Given the description of an element on the screen output the (x, y) to click on. 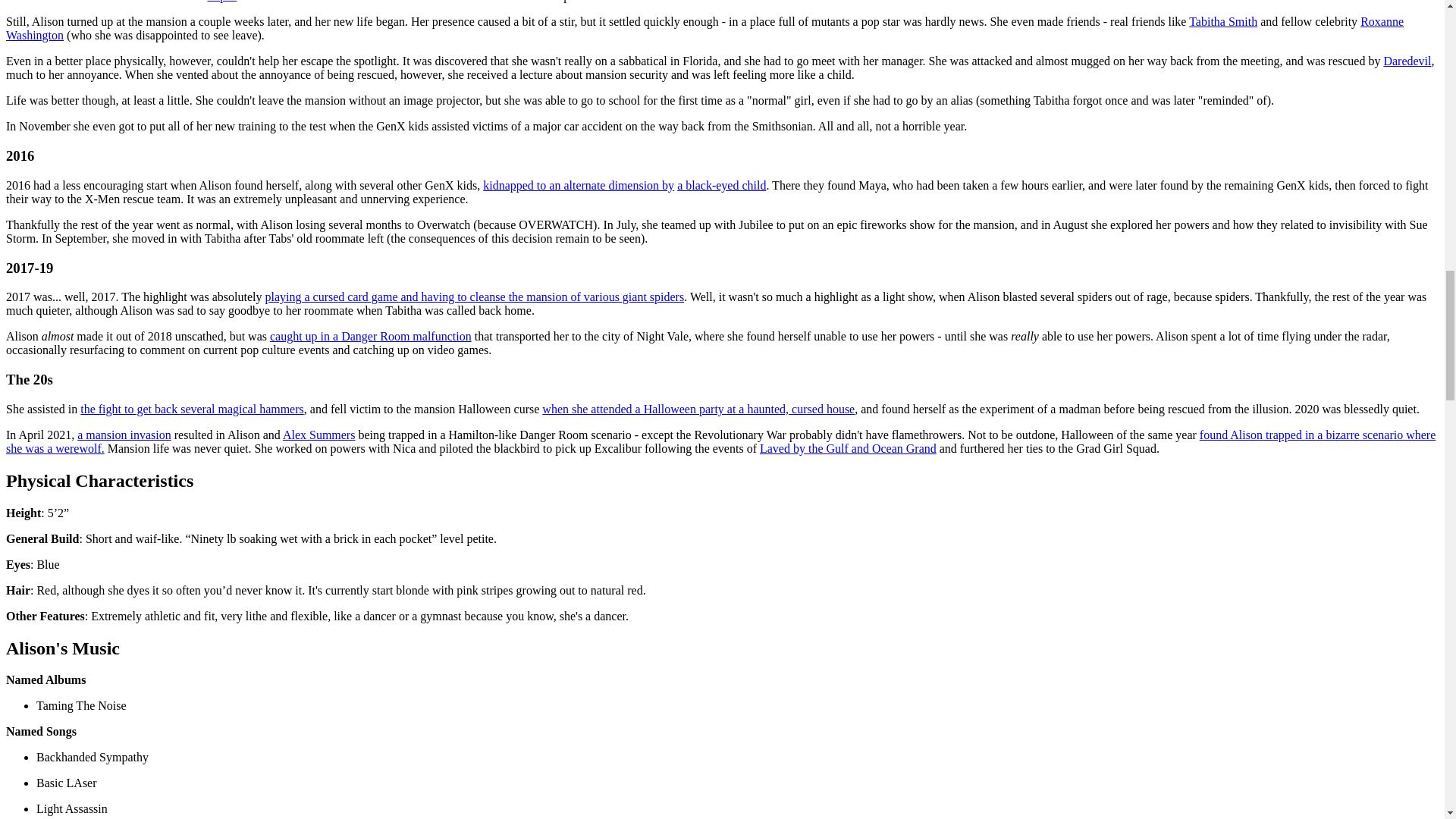
Daredevil (1407, 60)
Fear in the Dark (192, 408)
How To Kill A Spider (474, 296)
Tabitha Smith (1223, 21)
Tabitha Smith (1223, 21)
Roxanne Washington (704, 28)
A Fistful of Nanites (124, 434)
Something Slender This Way Comes (578, 185)
Topaz (220, 1)
Alex Summers (318, 434)
Daredevil (1407, 60)
House of Horrors (697, 408)
Topaz (220, 1)
The Danger Room Paradox (370, 336)
Slenderchildren (721, 185)
